Given the description of an element on the screen output the (x, y) to click on. 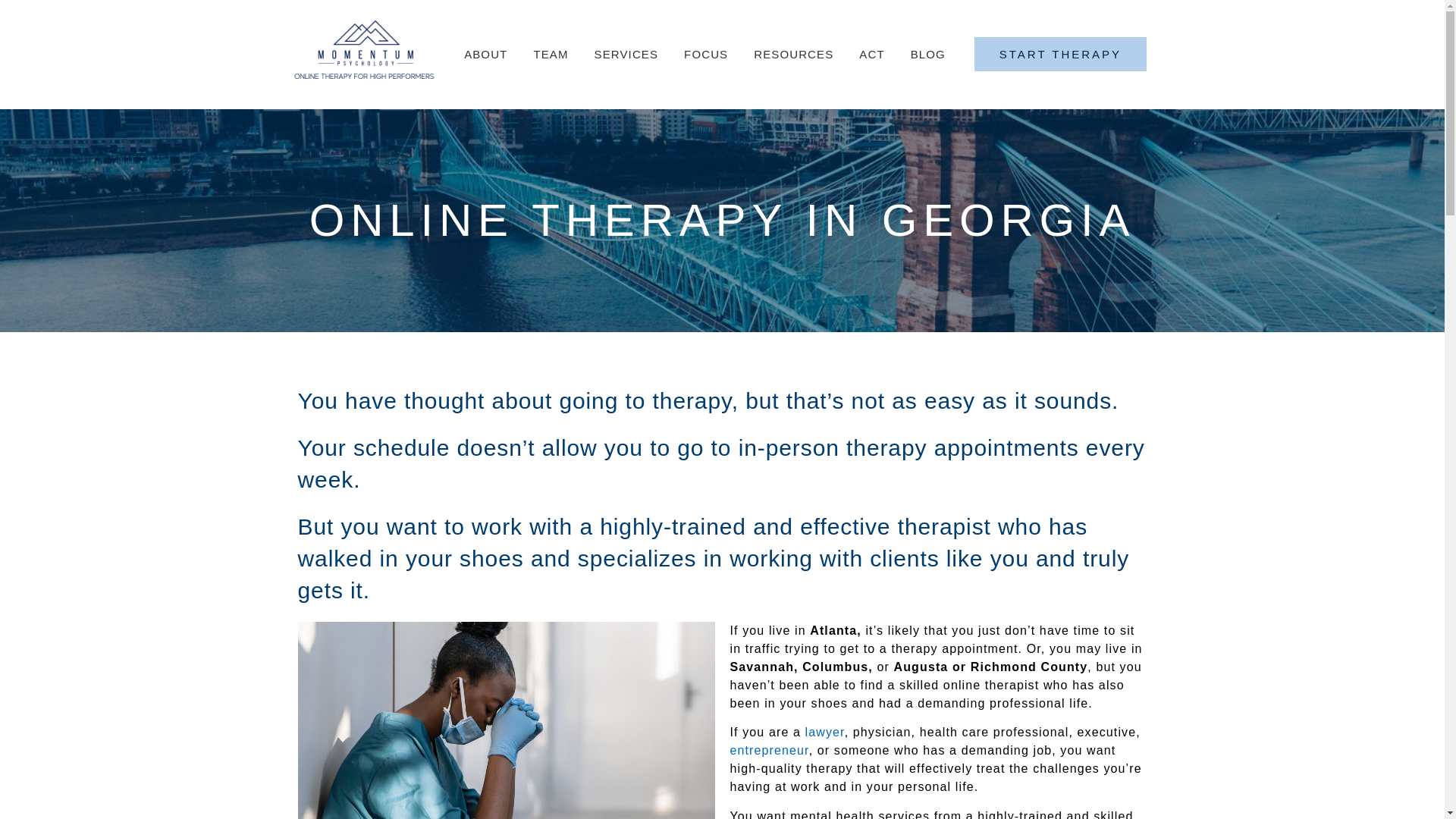
RESOURCES (797, 54)
ABOUT (489, 54)
FOCUS (709, 54)
TEAM (554, 54)
SERVICES (630, 54)
